Given the description of an element on the screen output the (x, y) to click on. 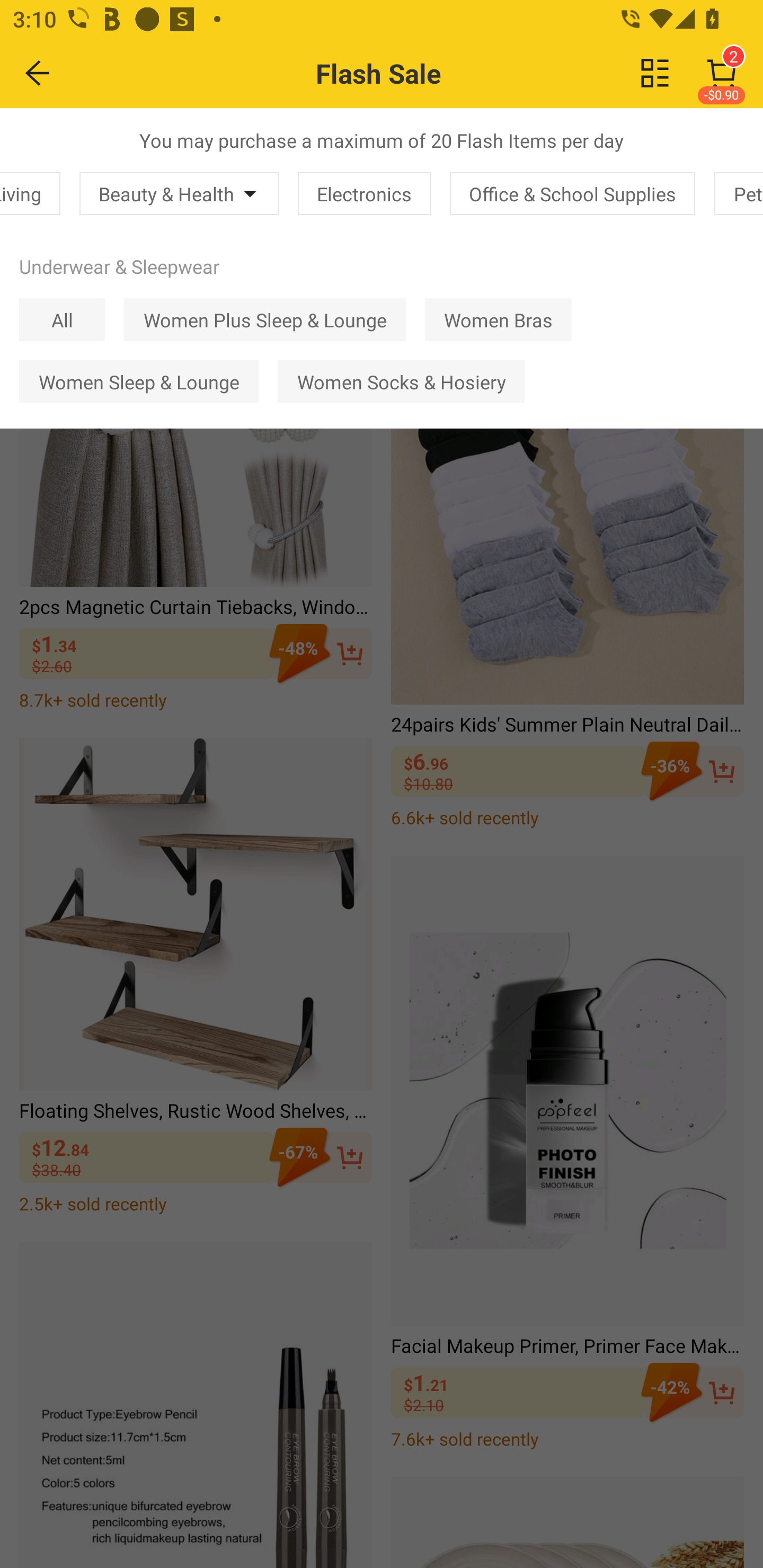
Flash Sale change view 2 -$0.90 (419, 72)
2 -$0.90 (721, 72)
change view (654, 72)
BACK (38, 72)
Beauty & Health (178, 193)
Electronics (364, 193)
Office & School Supplies (572, 193)
